Given the description of an element on the screen output the (x, y) to click on. 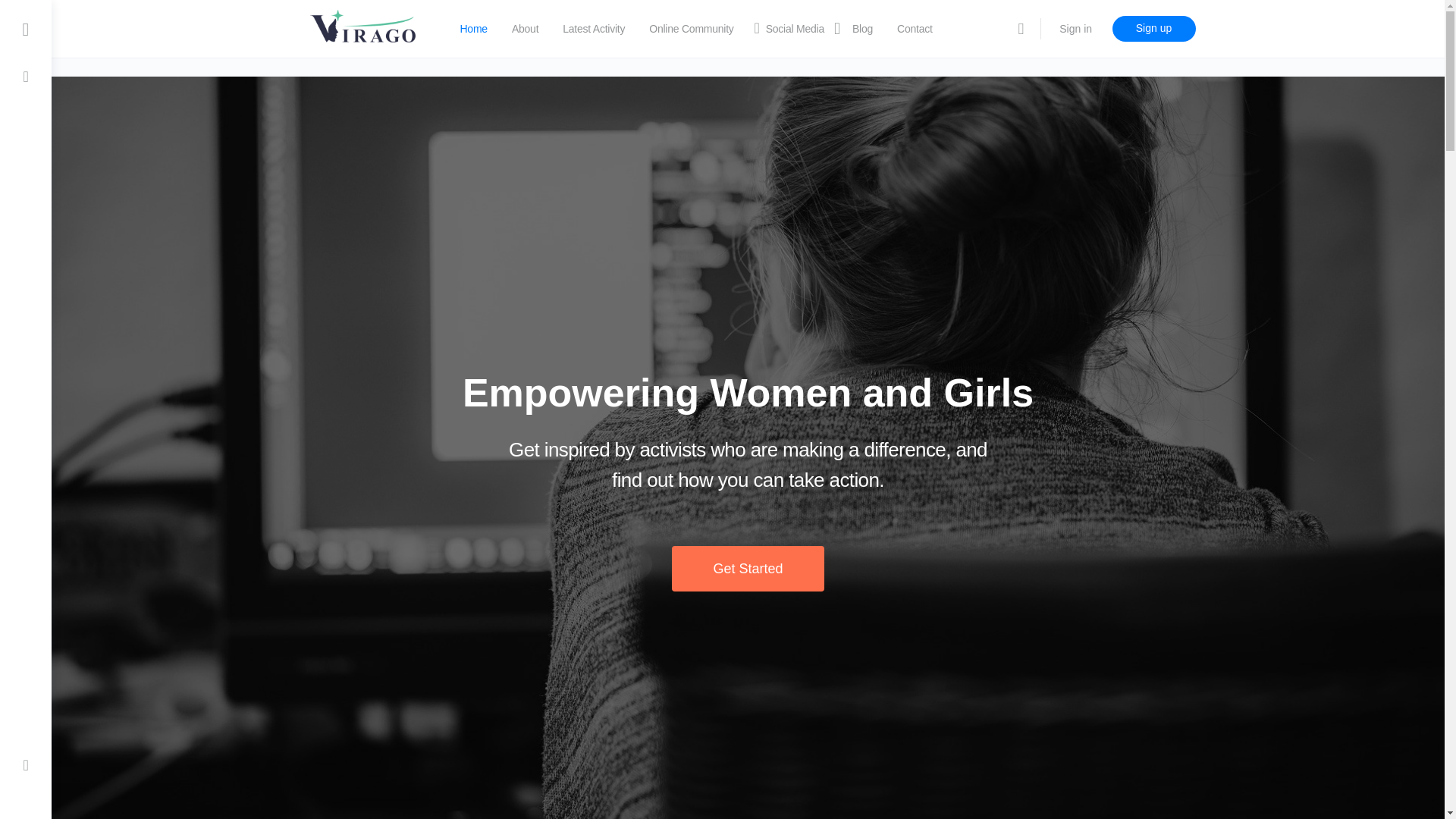
Social Media (789, 28)
Latest Activity (593, 28)
Online Community (691, 28)
Get Started (747, 568)
Sign in (1074, 28)
Sign up (1153, 28)
